Given the description of an element on the screen output the (x, y) to click on. 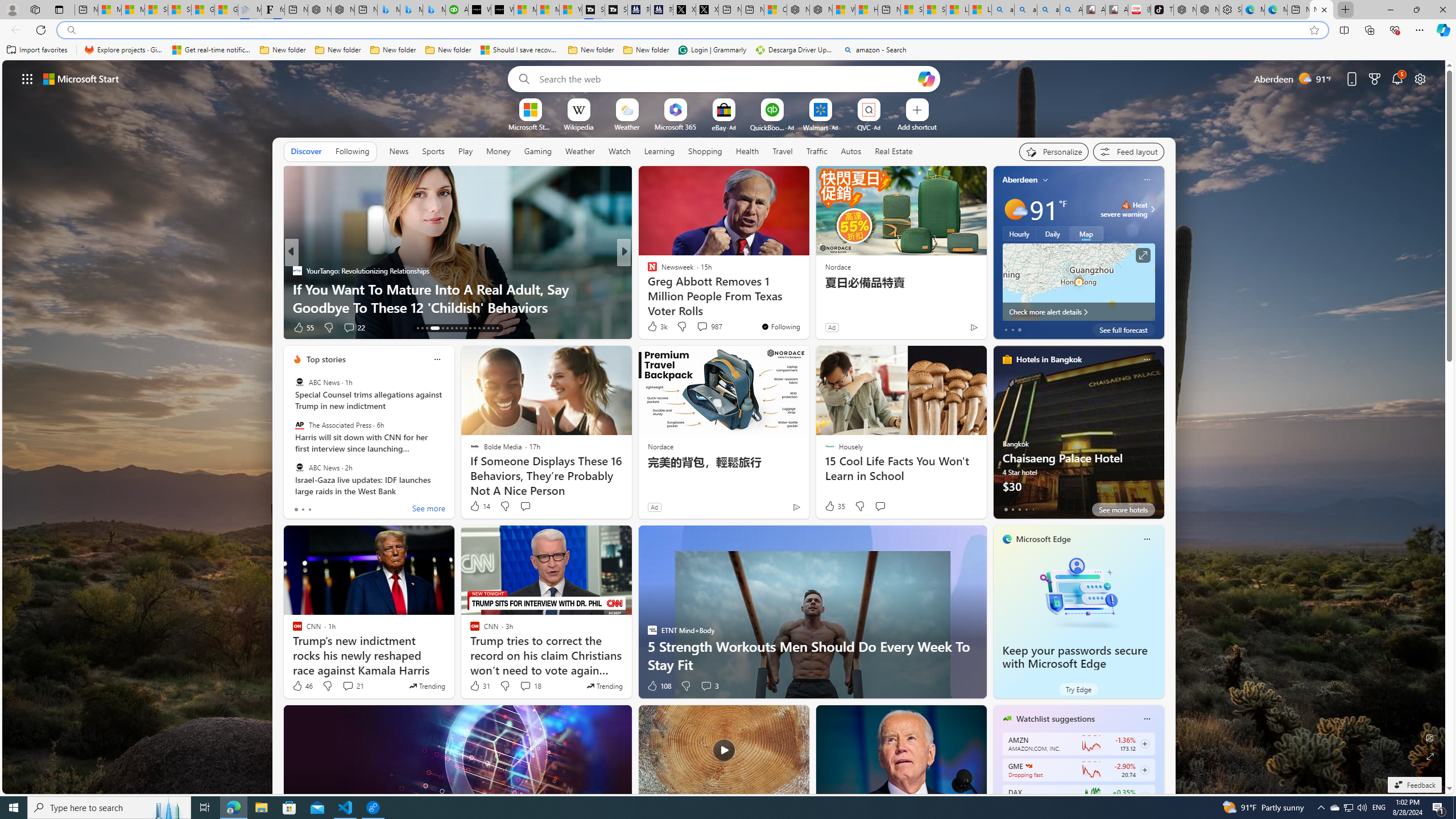
View comments 18 Comment (530, 685)
View comments 156 Comment (6, 327)
View comments 18 Comment (525, 685)
Weather (580, 151)
Microsoft Bing Travel - Stays in Bangkok, Bangkok, Thailand (411, 9)
Enter your search term (726, 78)
Daily (1052, 233)
Feed settings (1128, 151)
Add a site (916, 126)
